Given the description of an element on the screen output the (x, y) to click on. 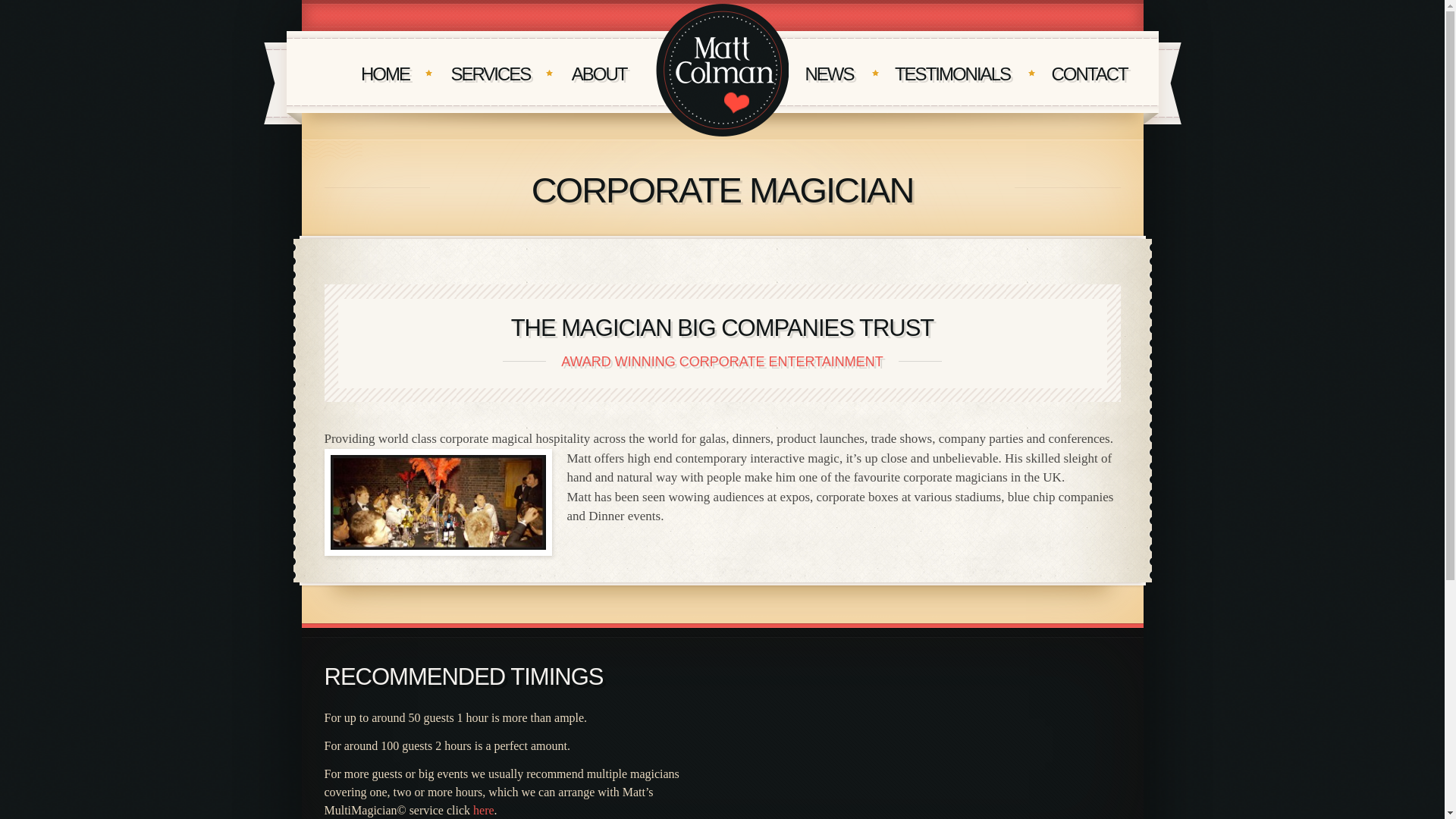
here (484, 809)
HOME (385, 74)
ABOUT (599, 74)
What we offer (489, 74)
SERVICES (489, 74)
TESTIMONIALS (952, 74)
NEWS (829, 74)
CONTACT (1088, 74)
